Given the description of an element on the screen output the (x, y) to click on. 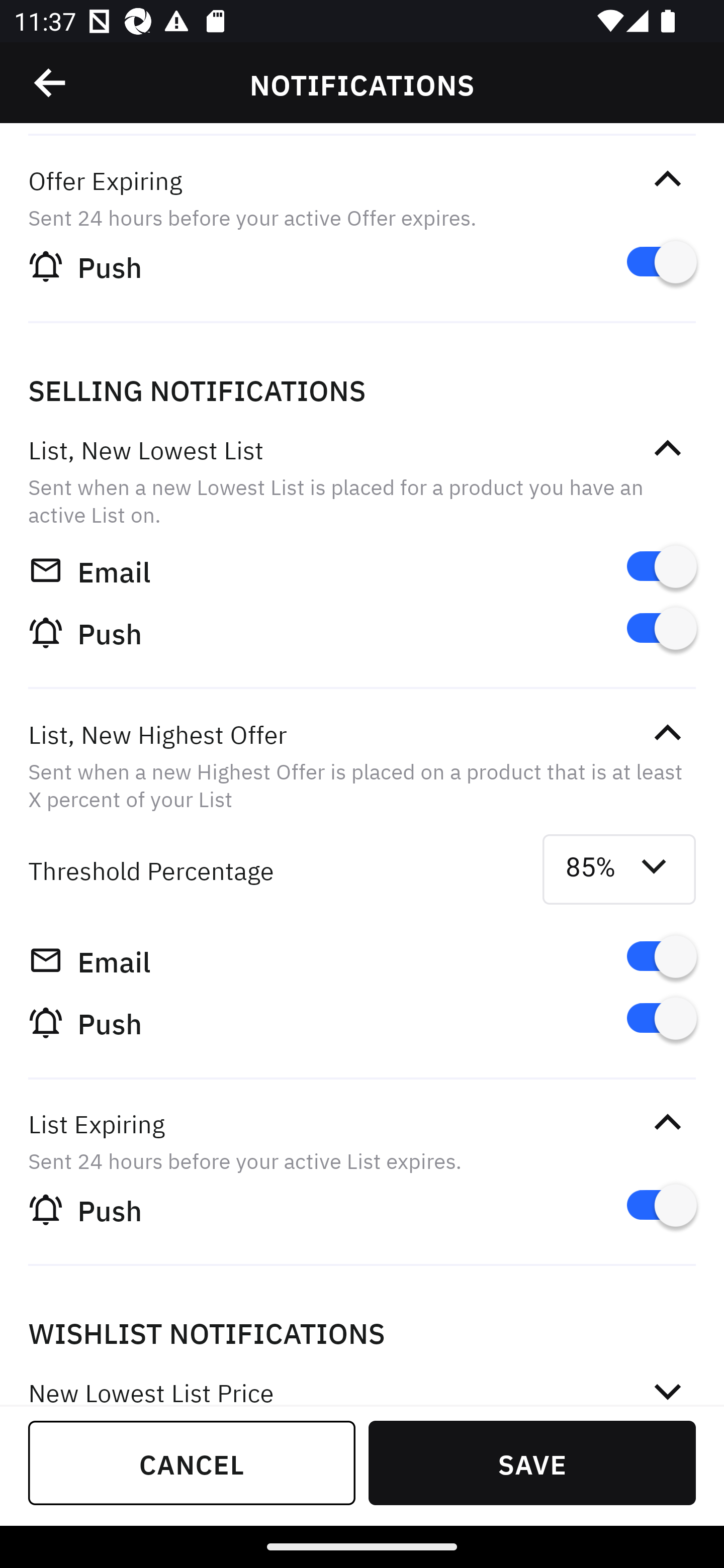
 (50, 83)
 (667, 179)
 (667, 448)
 (667, 732)
85%  (619, 869)
 (667, 1122)
New Lowest List Price  (361, 1377)
 (667, 1386)
CANCEL (191, 1462)
SAVE (531, 1462)
